Given the description of an element on the screen output the (x, y) to click on. 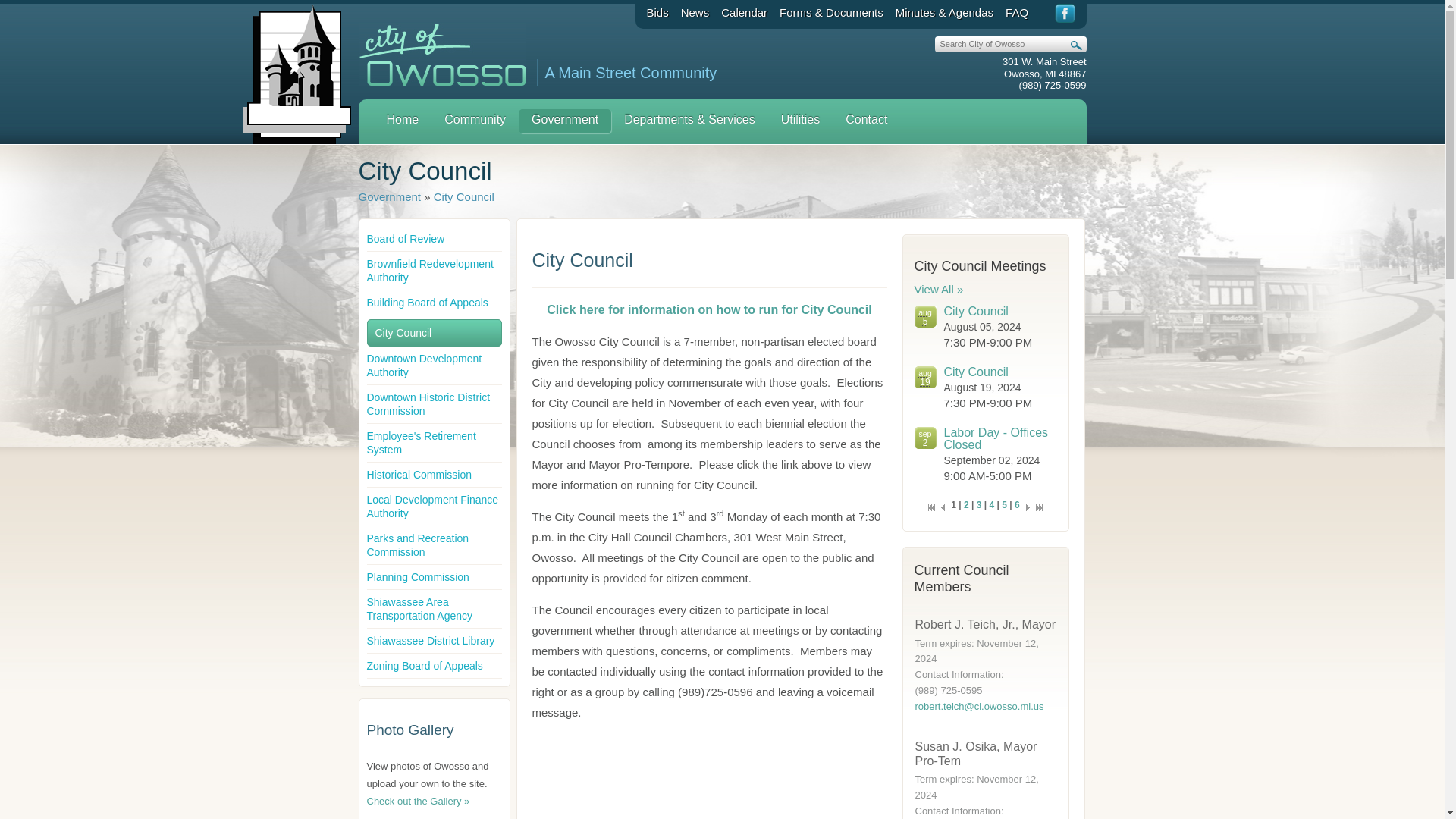
Calendar (743, 11)
FAQ (1016, 11)
News (695, 11)
Bids (657, 11)
Government (564, 120)
Home (401, 120)
Community (474, 120)
